Given the description of an element on the screen output the (x, y) to click on. 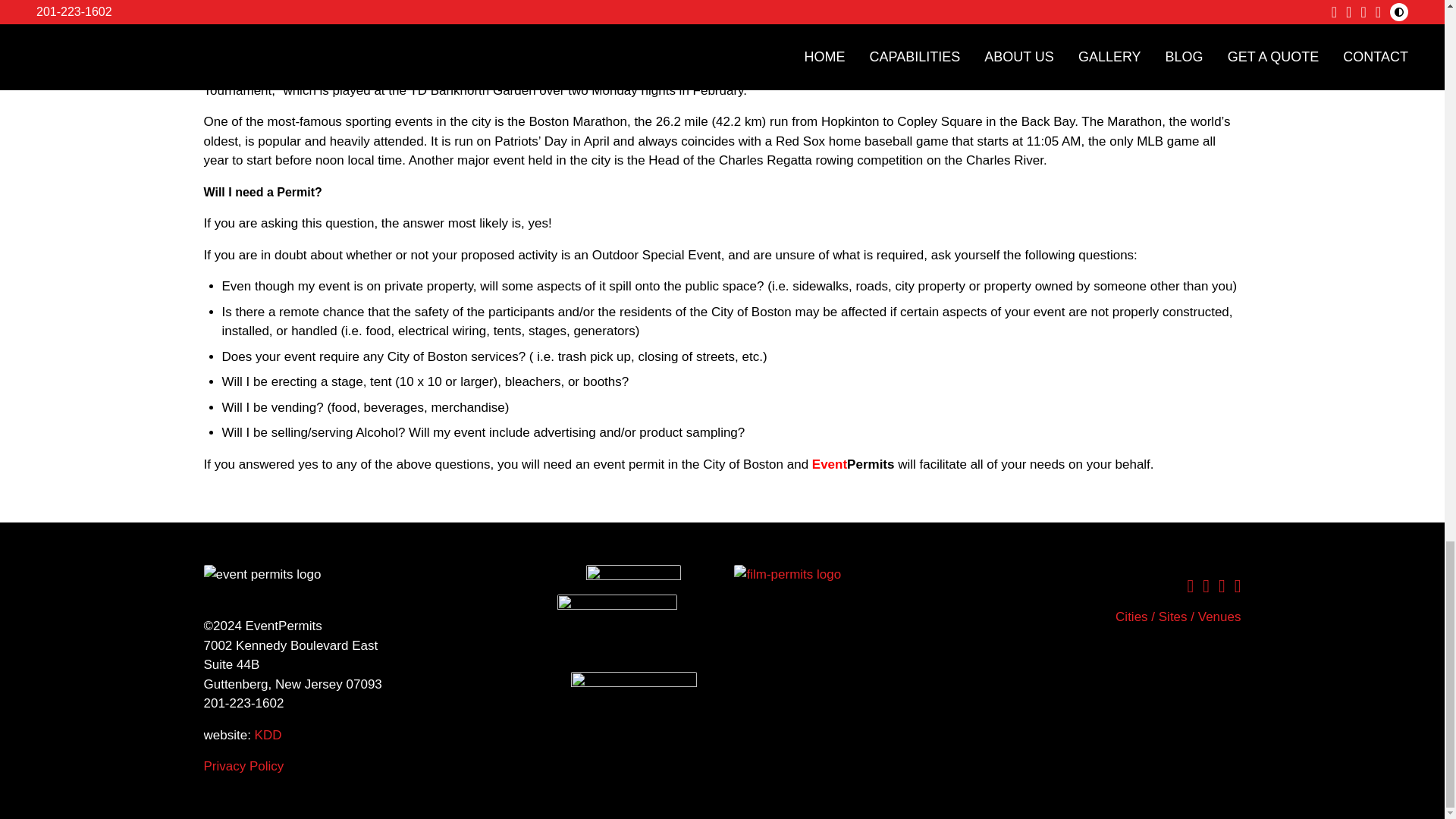
Facebook (1189, 586)
Instagram (1205, 586)
Twitter (1237, 586)
LinkedIn (1221, 586)
